Given the description of an element on the screen output the (x, y) to click on. 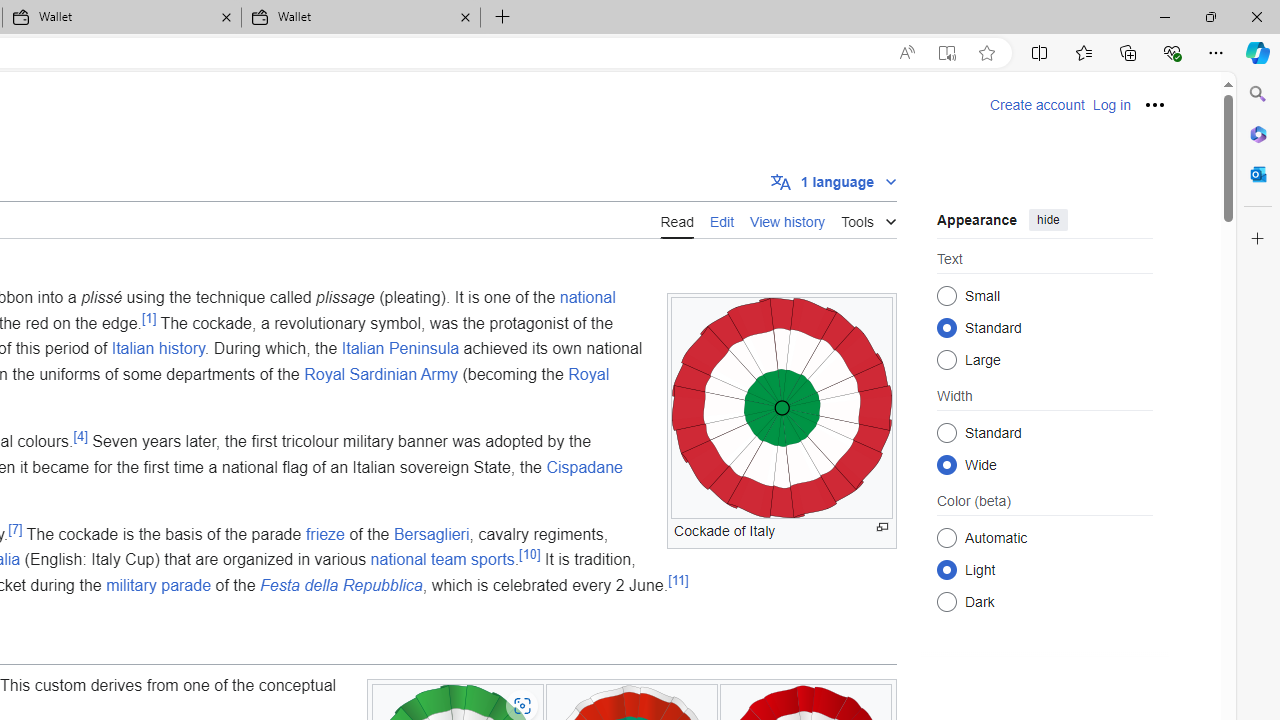
Small (946, 295)
hide (1048, 219)
Edit (721, 219)
[11] (678, 579)
Class: mw-list-item mw-list-item-js (1044, 569)
[7] (15, 529)
Create account (1037, 105)
Large (946, 359)
